Given the description of an element on the screen output the (x, y) to click on. 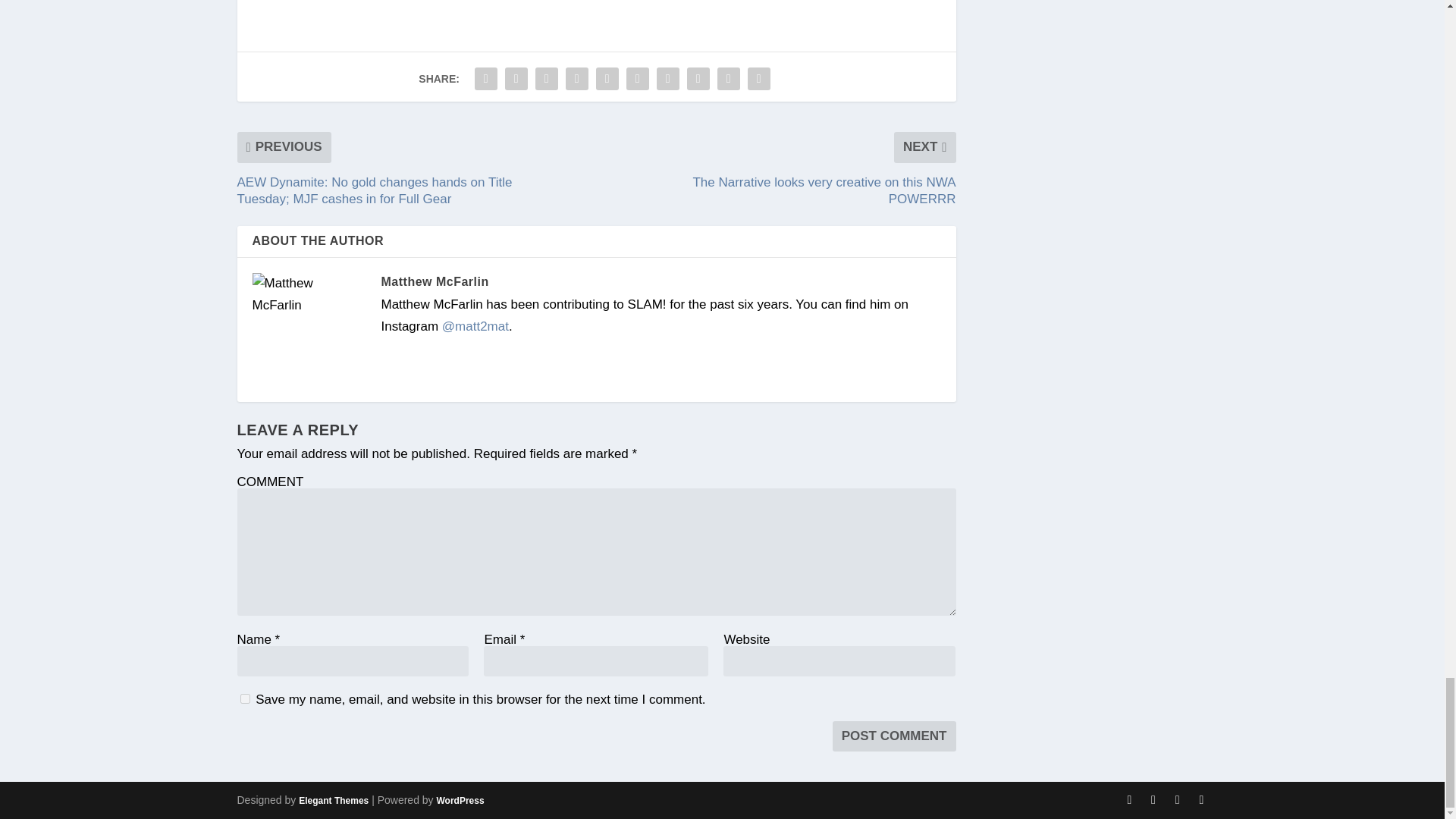
Matthew McFarlin (433, 281)
yes (244, 698)
Premium WordPress Themes (333, 800)
Post Comment (894, 736)
